Given the description of an element on the screen output the (x, y) to click on. 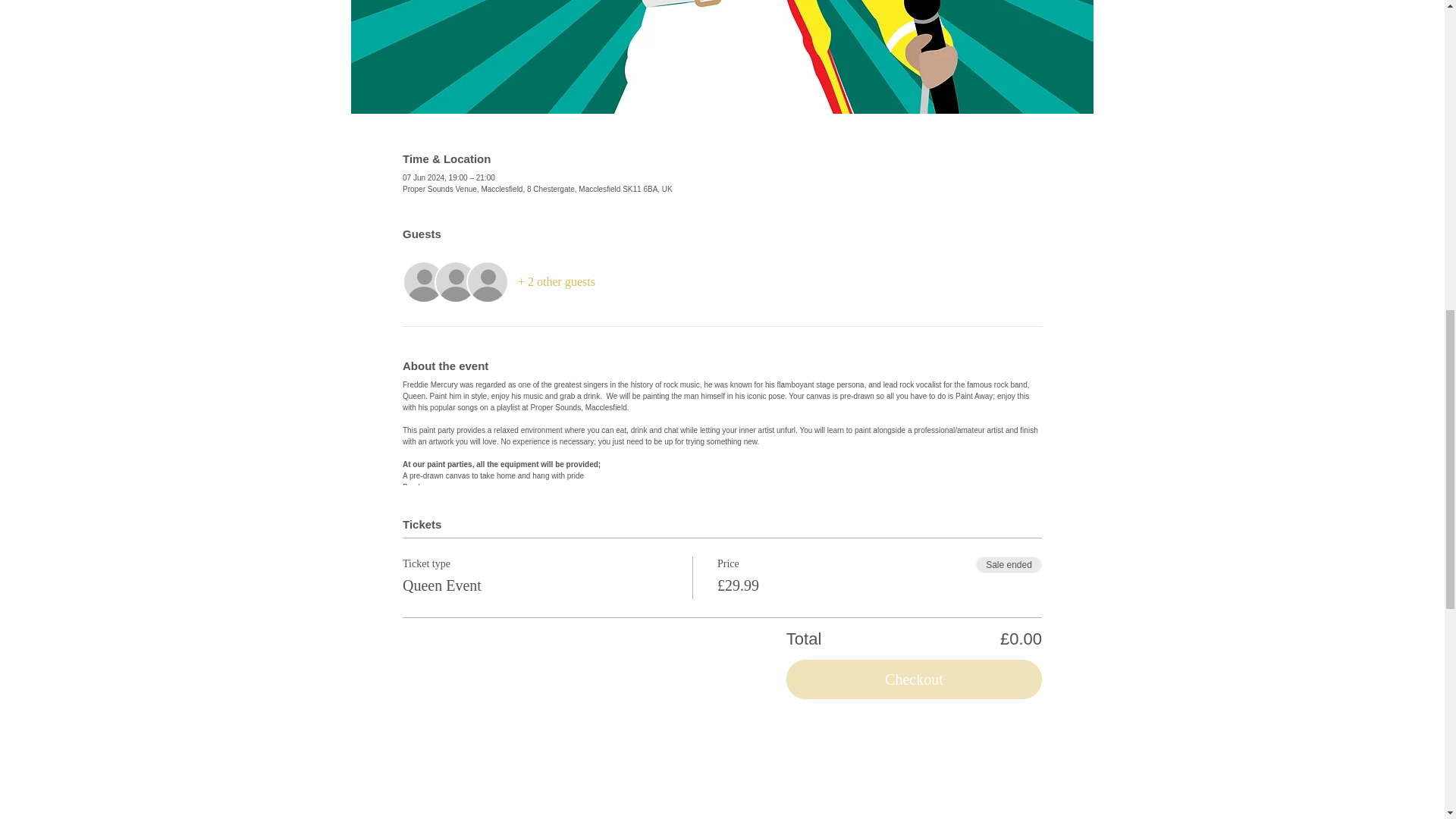
Checkout (914, 679)
